Given the description of an element on the screen output the (x, y) to click on. 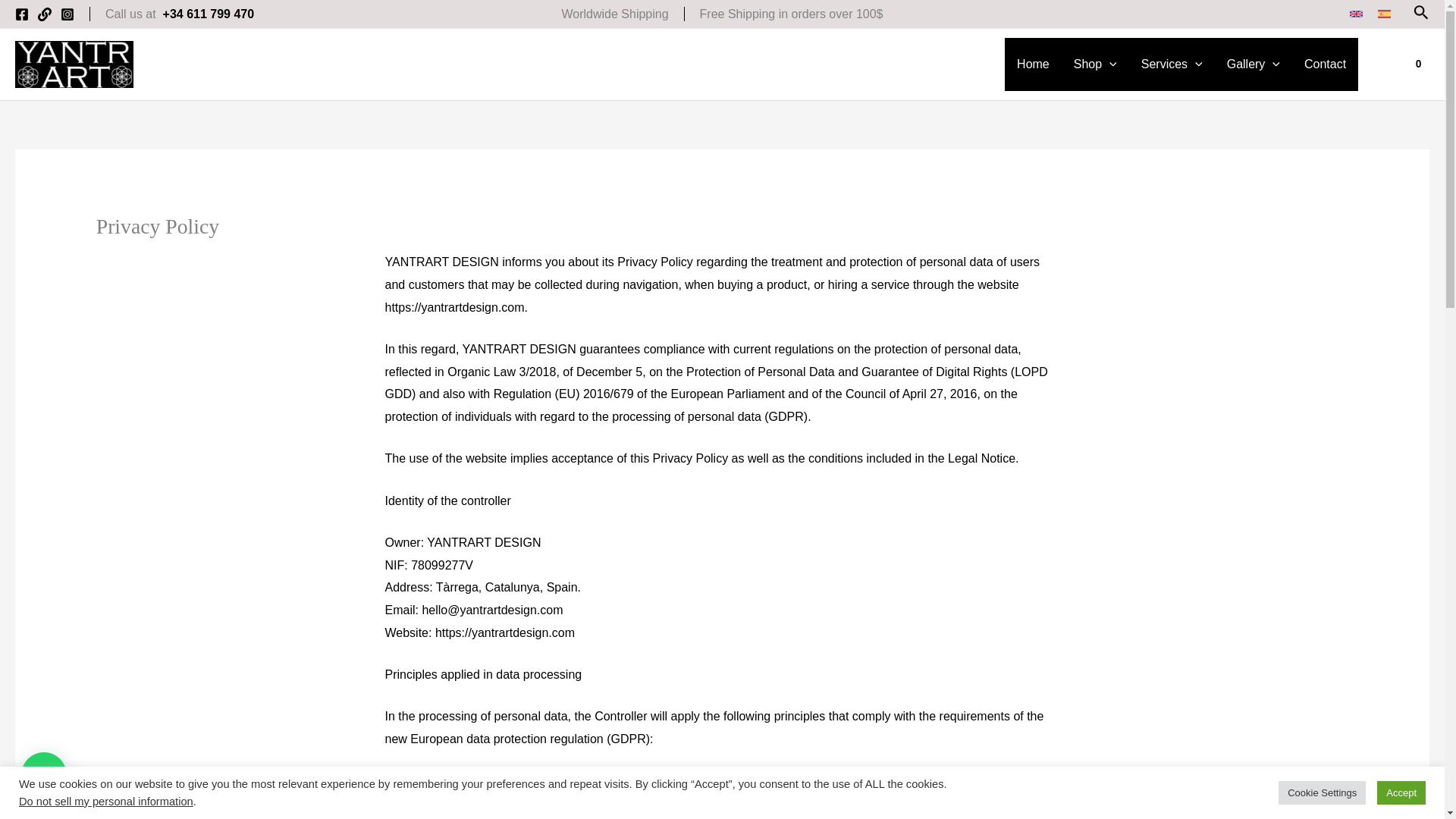
Shop (1095, 63)
Gallery (1253, 63)
Home (1032, 63)
Services (1171, 63)
